Given the description of an element on the screen output the (x, y) to click on. 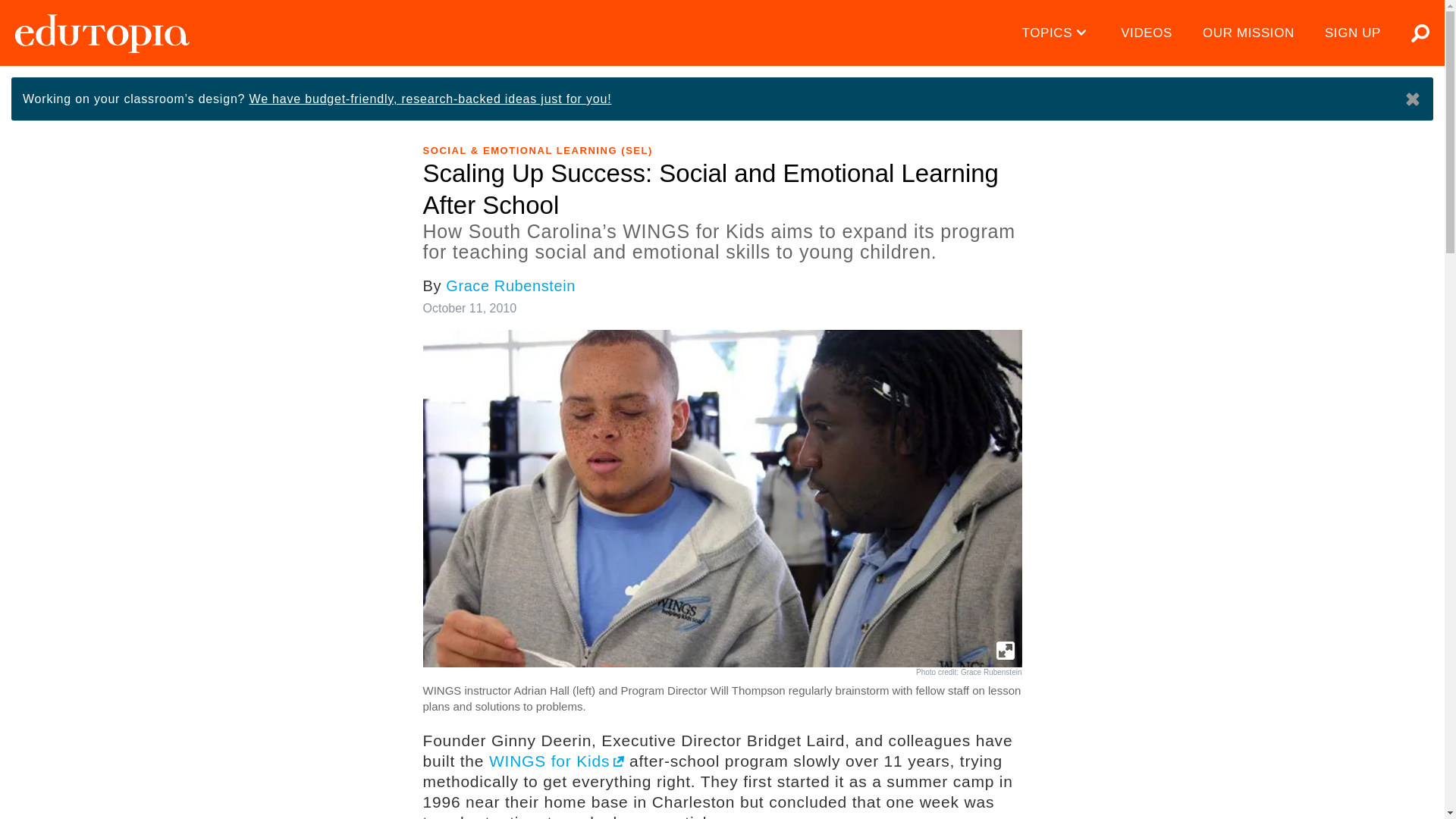
VIDEOS (1146, 33)
WINGS for Kids (556, 760)
Edutopia (101, 33)
SIGN UP (1352, 33)
Edutopia (101, 33)
Grace Rubenstein (510, 285)
OUR MISSION (1248, 33)
TOPICS (1056, 33)
We have budget-friendly, research-backed ideas just for you! (429, 98)
